Given the description of an element on the screen output the (x, y) to click on. 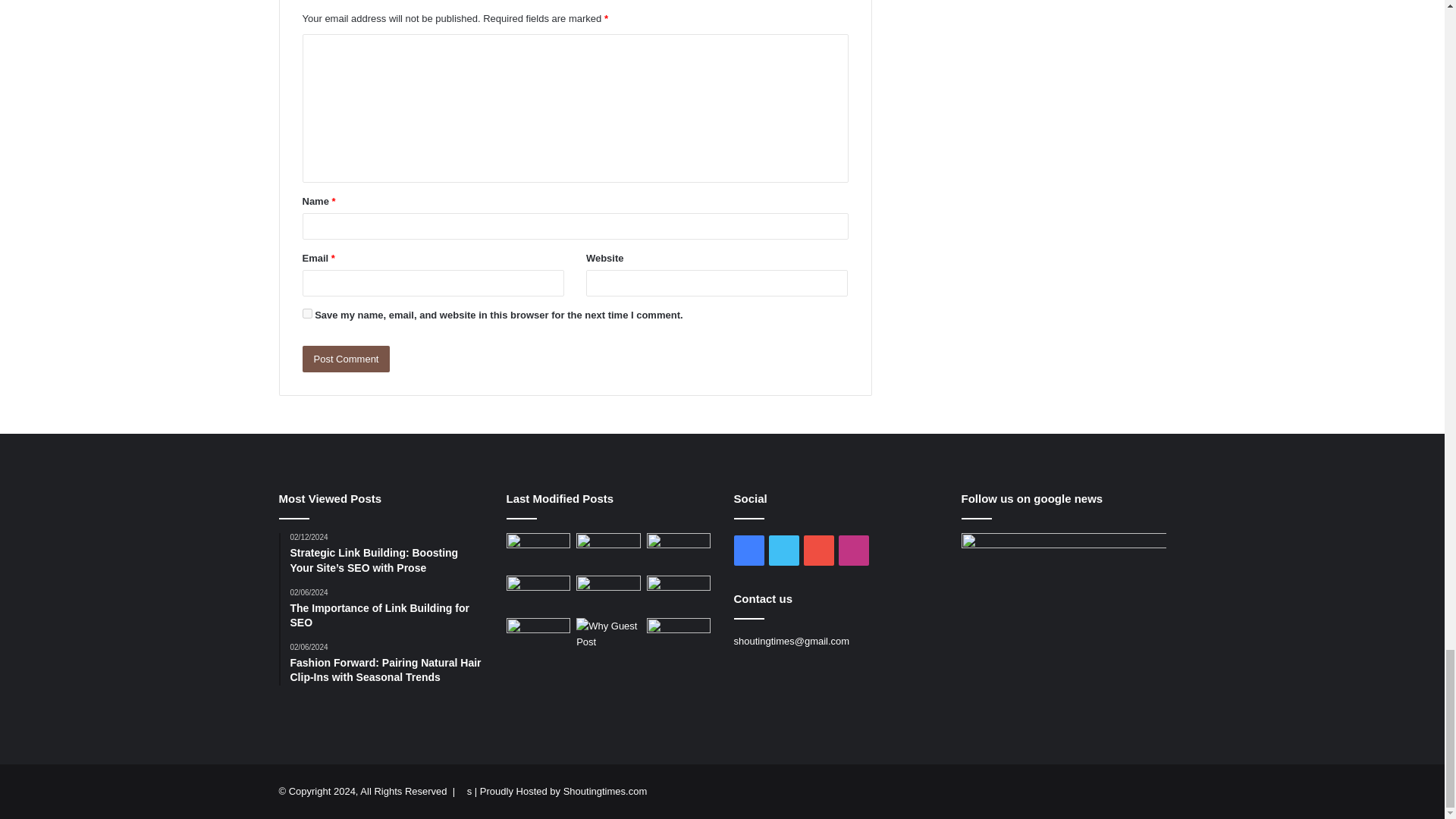
Post Comment (345, 358)
yes (306, 313)
